Given the description of an element on the screen output the (x, y) to click on. 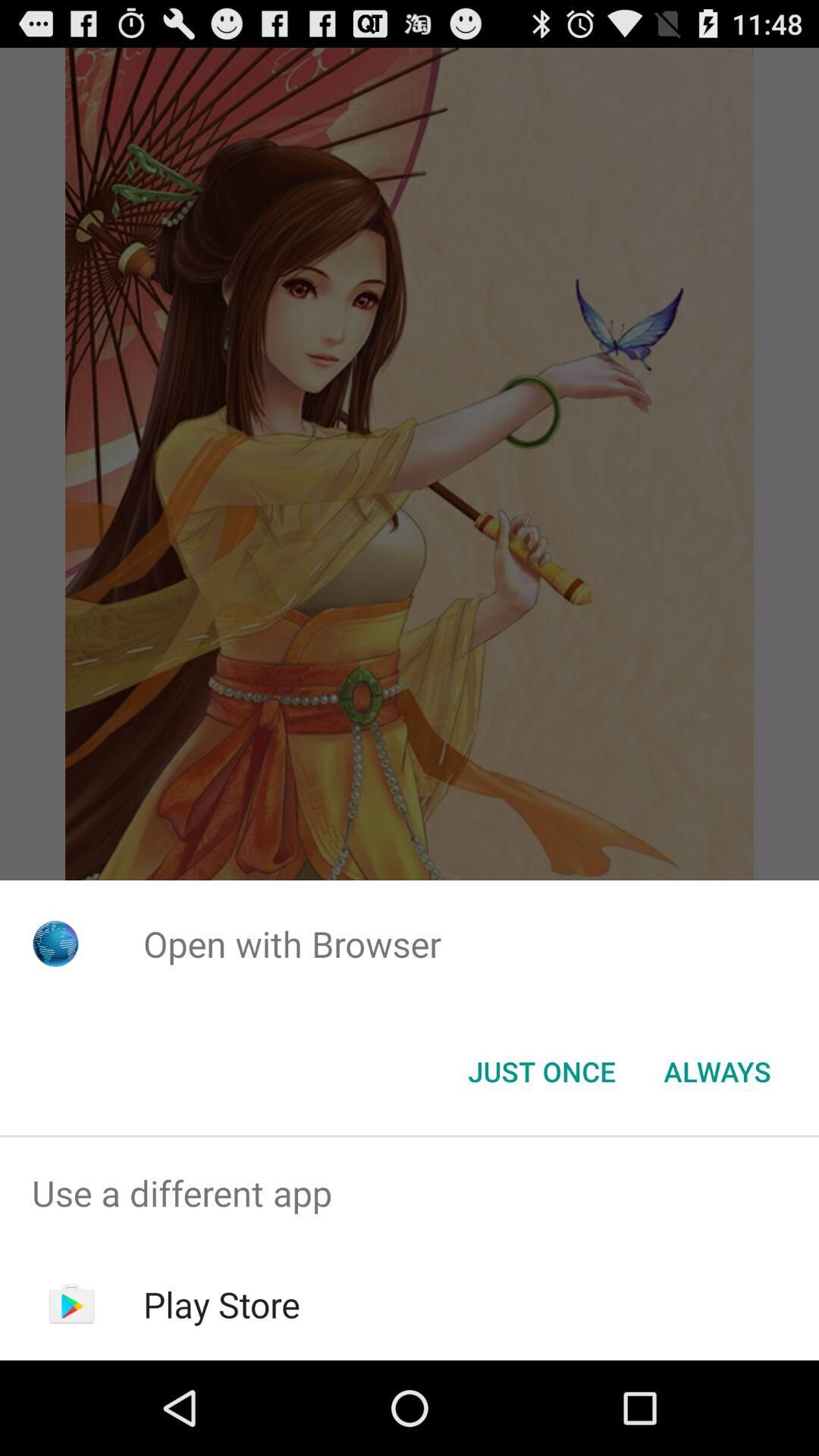
scroll until the always (717, 1071)
